Given the description of an element on the screen output the (x, y) to click on. 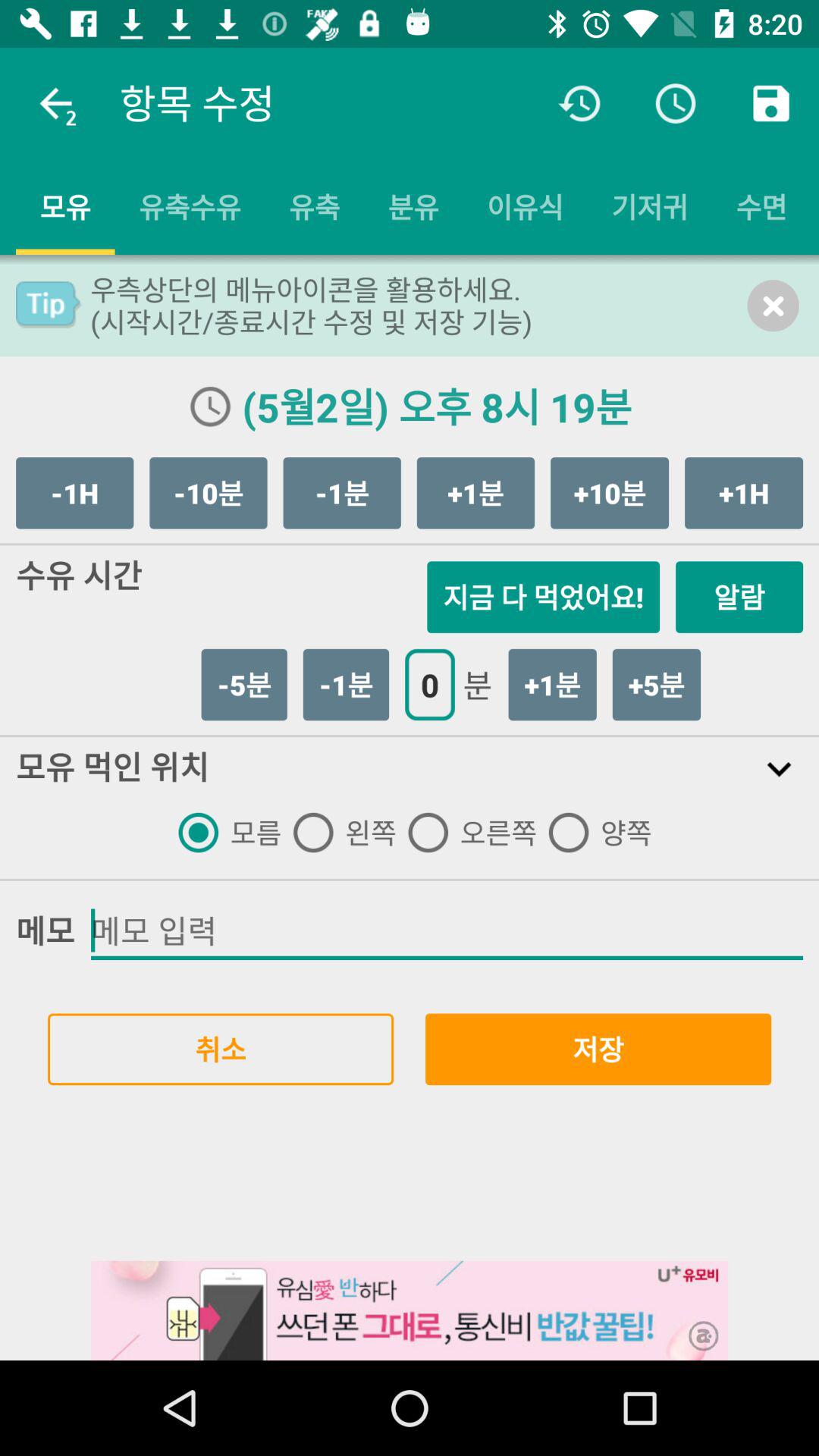
launch item to the right of the -1h icon (208, 492)
